Given the description of an element on the screen output the (x, y) to click on. 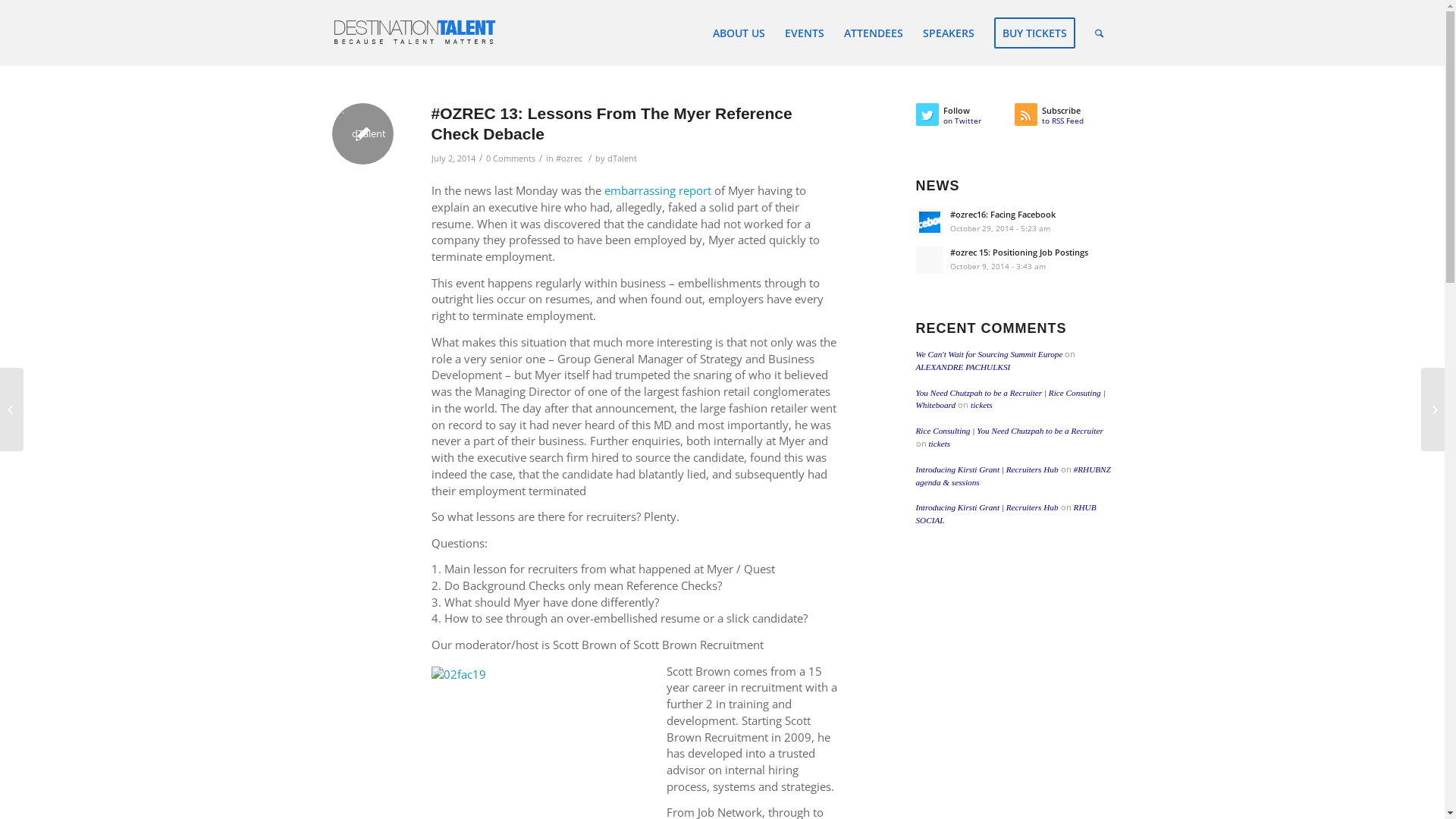
Rice Consulting | You Need Chutzpah to be a Recruiter Element type: text (1009, 430)
ATTENDEES Element type: text (873, 32)
BUY TICKETS Element type: text (1034, 32)
embarrassing report Element type: text (656, 189)
Introducing Kirsti Grant | Recruiters Hub Element type: text (987, 506)
Introducing Kirsti Grant | Recruiters Hub Element type: text (987, 468)
tickets Element type: text (939, 443)
Subscribe
to RSS Feed Element type: text (1063, 118)
RHUB SOCIAL Element type: text (1006, 513)
dTalent Element type: text (621, 158)
ALEXANDRE PACHULKSI Element type: text (963, 366)
#ozrec16: Facing Facebook
October 29, 2014 - 5:23 am Element type: text (1014, 220)
ABOUT US Element type: text (738, 32)
#ozrec Element type: text (568, 158)
tickets Element type: text (981, 404)
Follow
on Twitter Element type: text (965, 118)
0 Comments Element type: text (509, 158)
SPEAKERS Element type: text (948, 32)
#RHUBNZ agenda & sessions Element type: text (1013, 475)
We Can't Wait for Sourcing Summit Europe Element type: text (989, 353)
EVENTS Element type: text (804, 32)
#OZREC 13: Lessons From The Myer Reference Check Debacle Element type: text (610, 123)
